Given the description of an element on the screen output the (x, y) to click on. 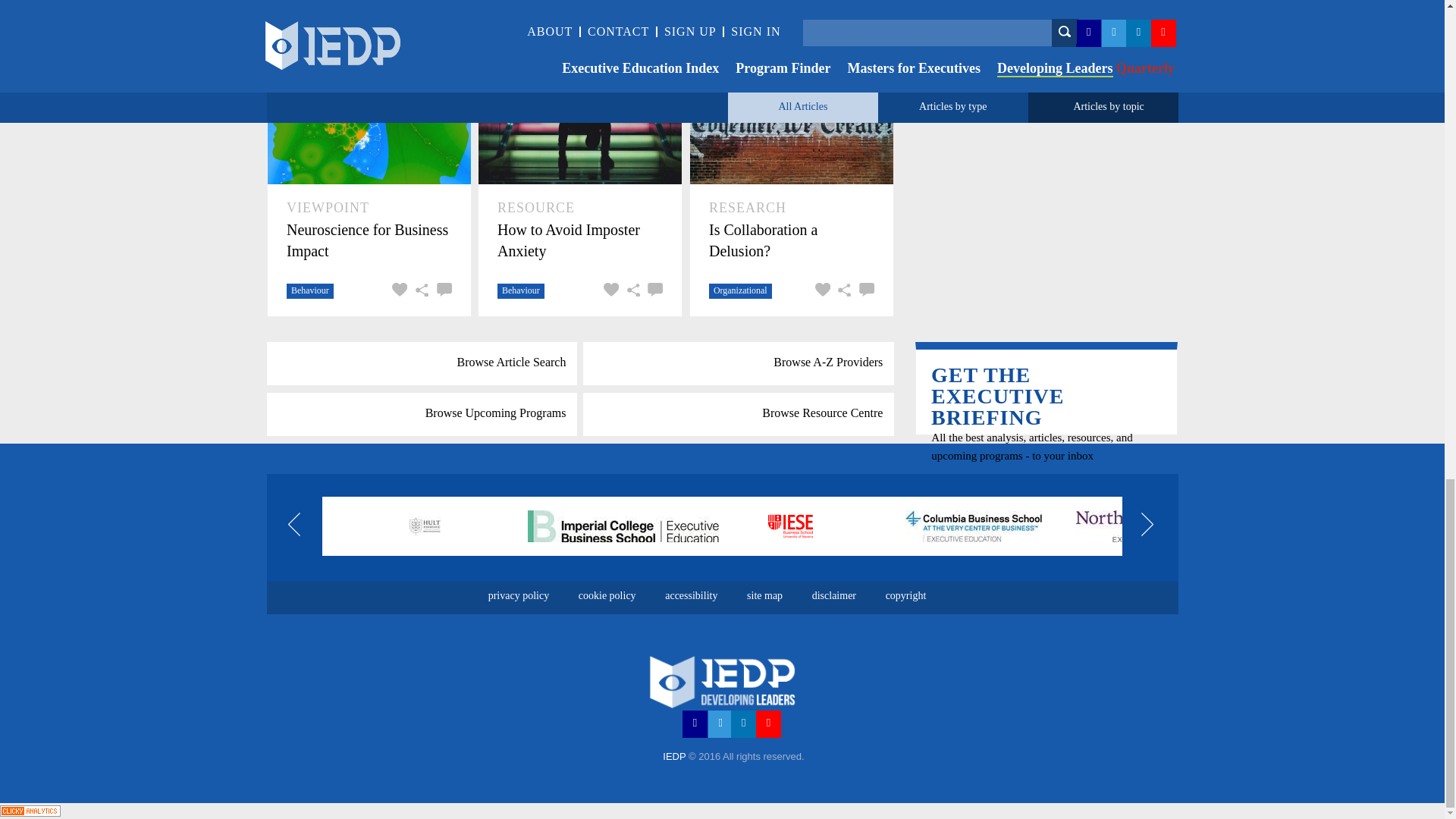
favourite (397, 17)
share (420, 17)
comment (441, 290)
favourite (608, 290)
comment (652, 290)
comment (863, 21)
favourite (397, 290)
share (631, 290)
Neuroscience for Business Impact (368, 240)
How to Avoid Imposter Anxiety (579, 240)
favourite (819, 21)
share (420, 290)
comment (441, 17)
share (842, 21)
